Given the description of an element on the screen output the (x, y) to click on. 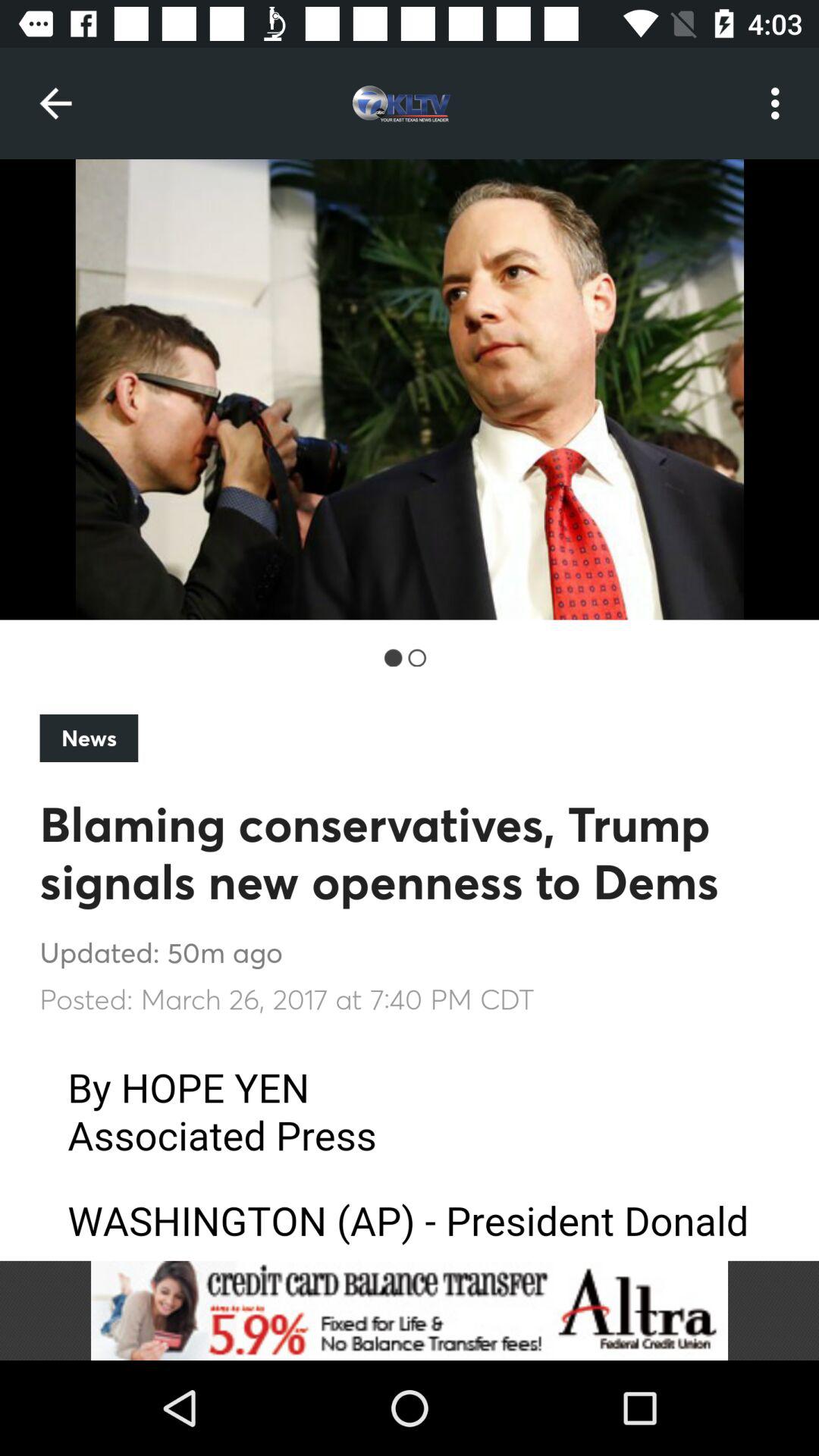
this is an advertisement (409, 1310)
